Given the description of an element on the screen output the (x, y) to click on. 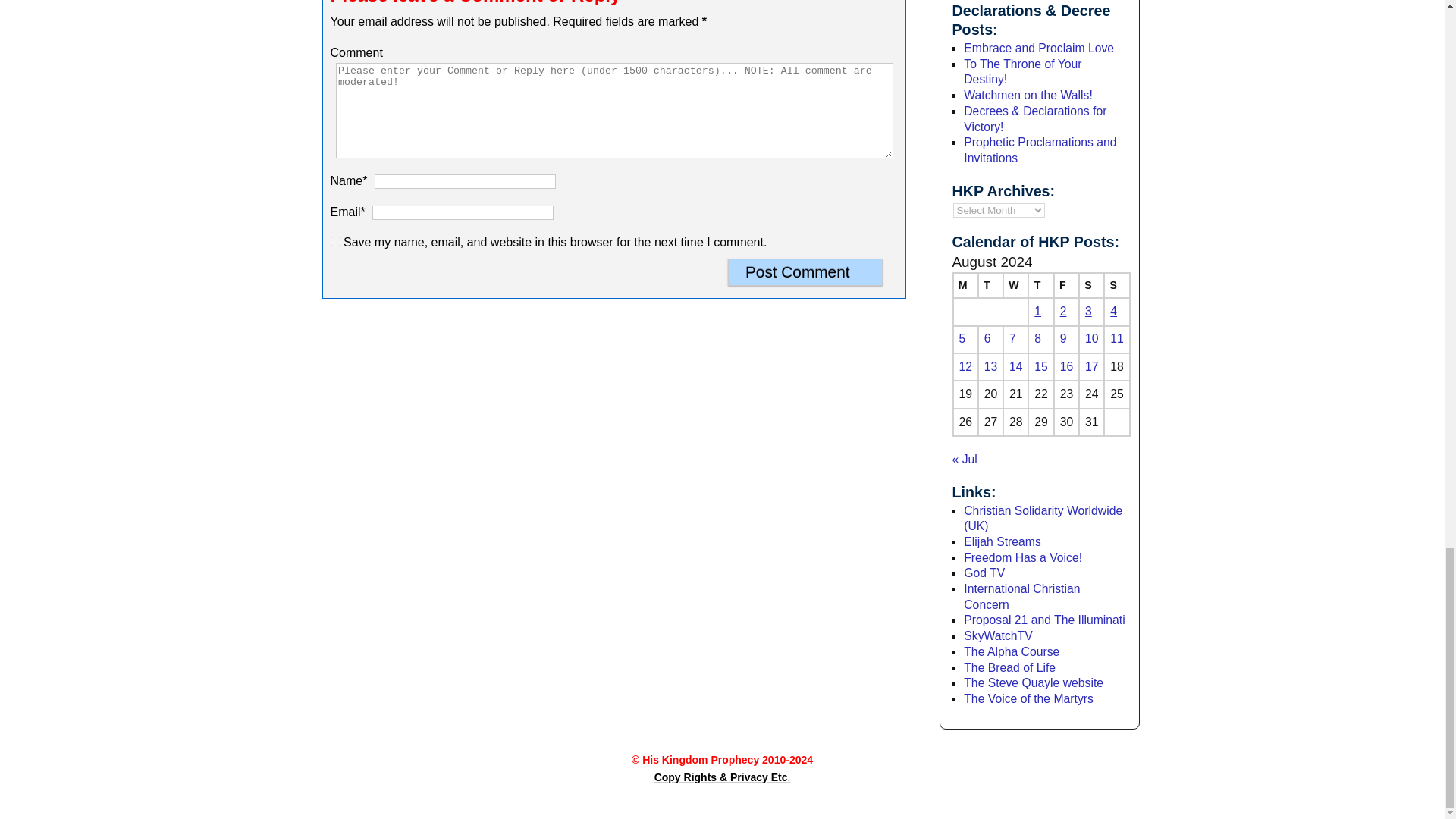
Friday (1066, 285)
Thursday (1039, 285)
yes (335, 241)
Post Comment (805, 271)
Monday (964, 285)
Saturday (1090, 285)
Wednesday (1015, 285)
Tuesday (990, 285)
